Given the description of an element on the screen output the (x, y) to click on. 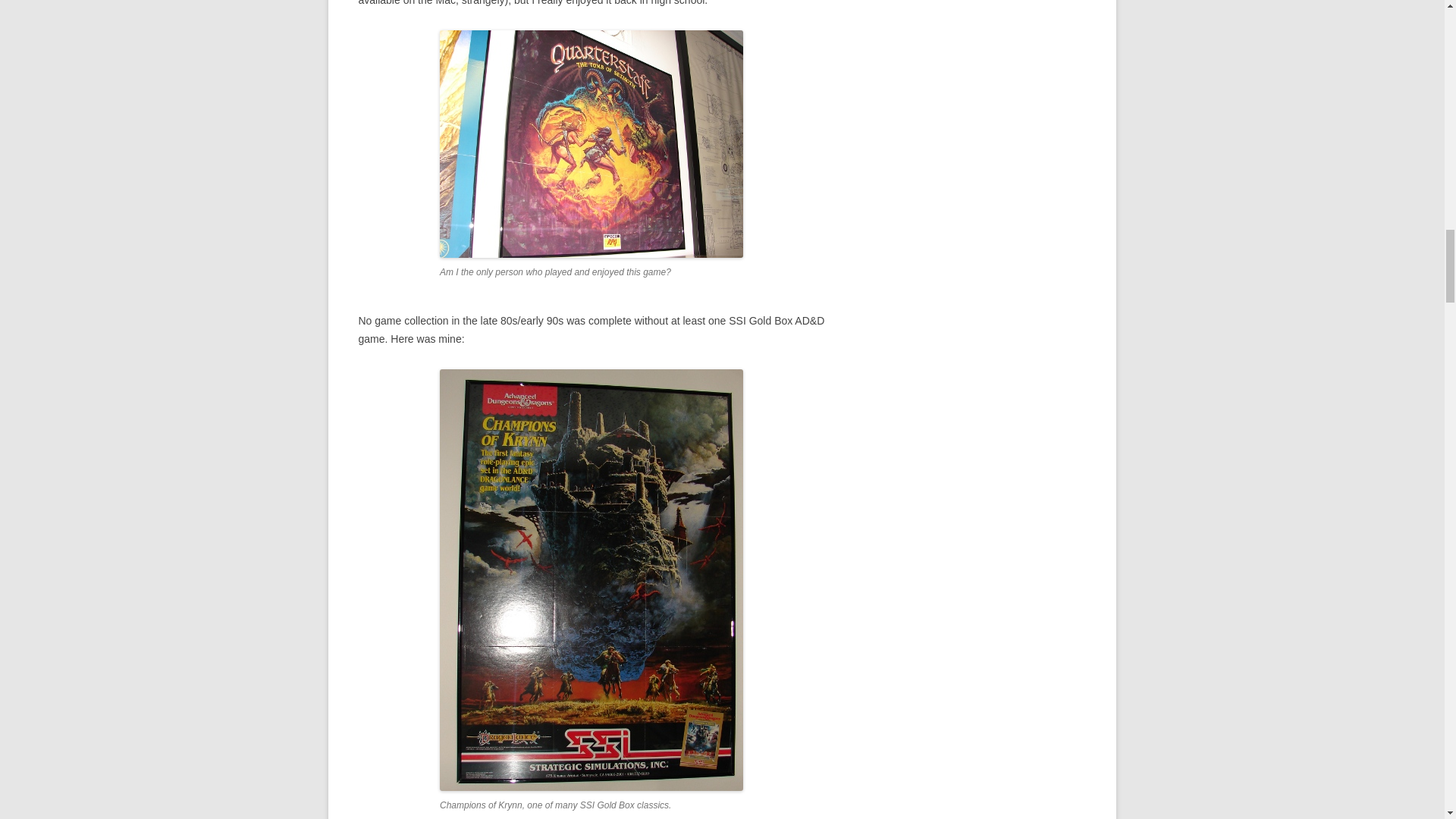
quarterstaff (590, 143)
